Given the description of an element on the screen output the (x, y) to click on. 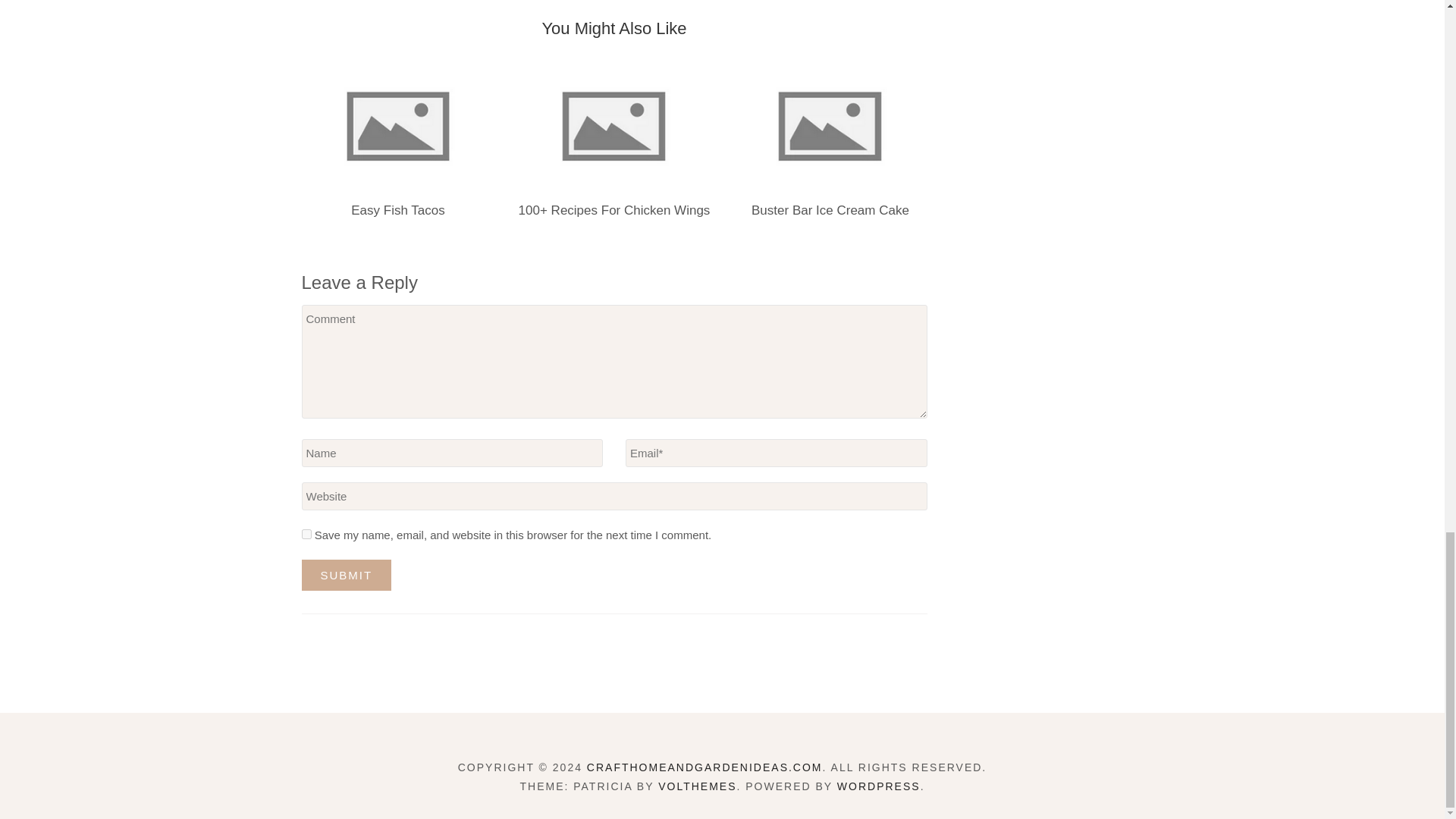
crafthomeandgardenideas.com (704, 767)
Submit (346, 574)
VolThemes (697, 786)
WordPress (878, 786)
yes (306, 533)
